Given the description of an element on the screen output the (x, y) to click on. 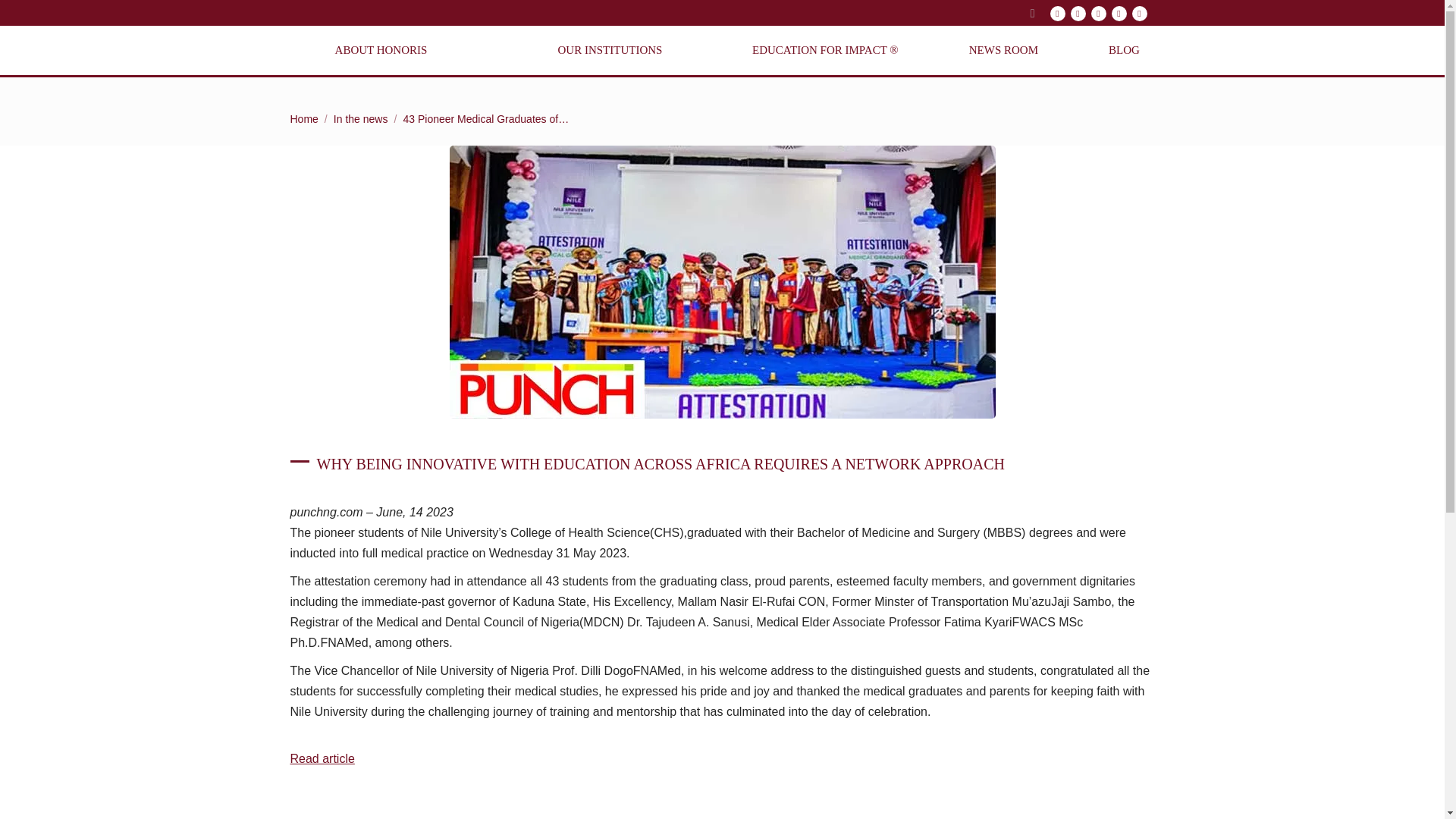
Home (303, 119)
Linkedin page opens in new window (1119, 13)
ABOUT HONORIS (380, 50)
Facebook page opens in new window (1056, 13)
Go! (24, 17)
Linkedin page opens in new window (1119, 13)
Instagram page opens in new window (1078, 13)
Facebook page opens in new window (1056, 13)
YouTube page opens in new window (1139, 13)
YouTube page opens in new window (1139, 13)
In the news (360, 119)
OUR INSTITUTIONS (609, 50)
Instagram page opens in new window (1078, 13)
X page opens in new window (1097, 13)
